Given the description of an element on the screen output the (x, y) to click on. 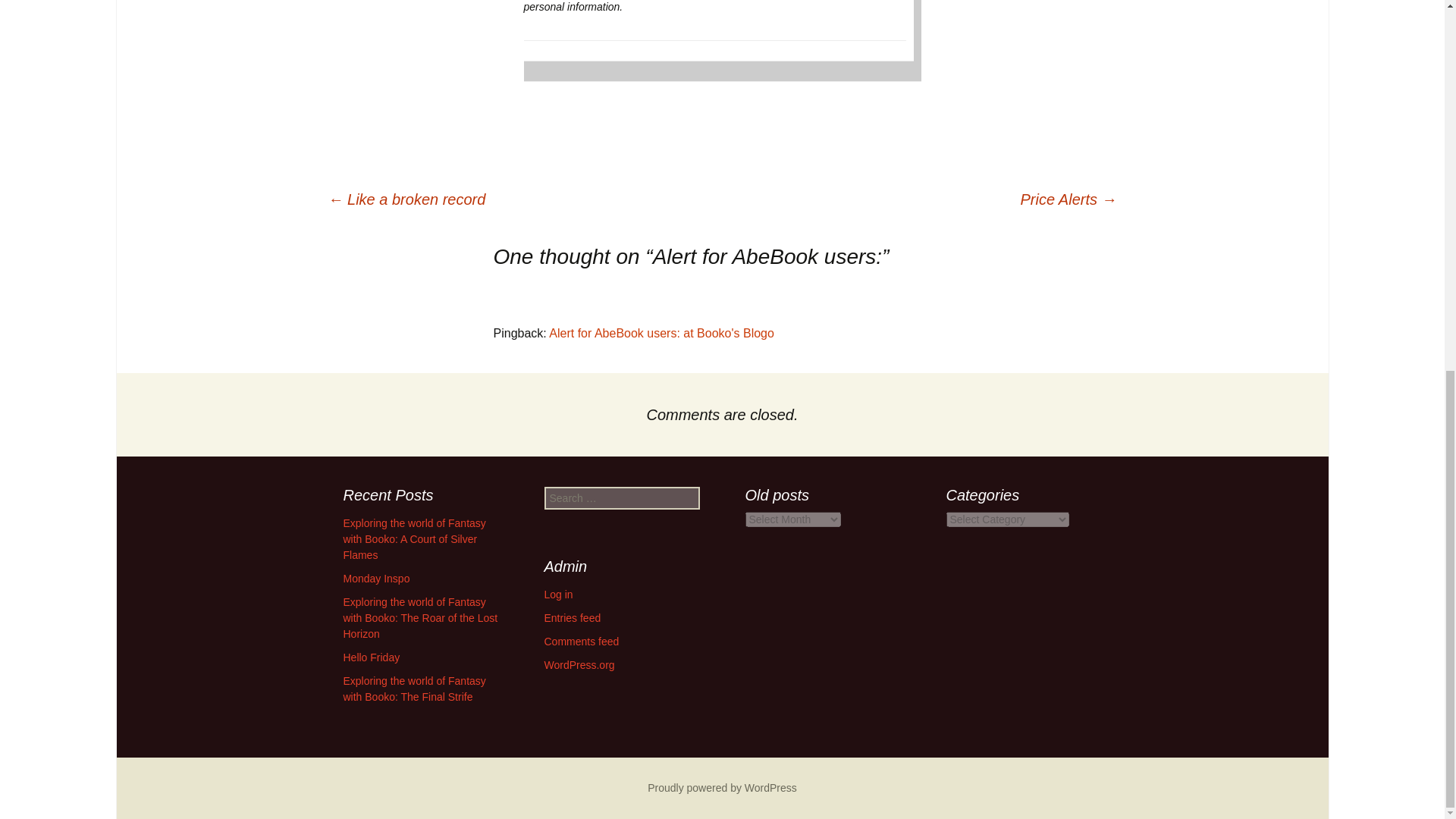
Proudly powered by WordPress (721, 787)
Exploring the world of Fantasy with Booko: The Final Strife (413, 688)
Entries feed (572, 617)
Log in (558, 594)
Alert for AbeBook users: at Booko's Blogo (661, 332)
Comments feed (582, 641)
WordPress.org (579, 664)
Hello Friday (370, 657)
Monday Inspo (375, 578)
